Given the description of an element on the screen output the (x, y) to click on. 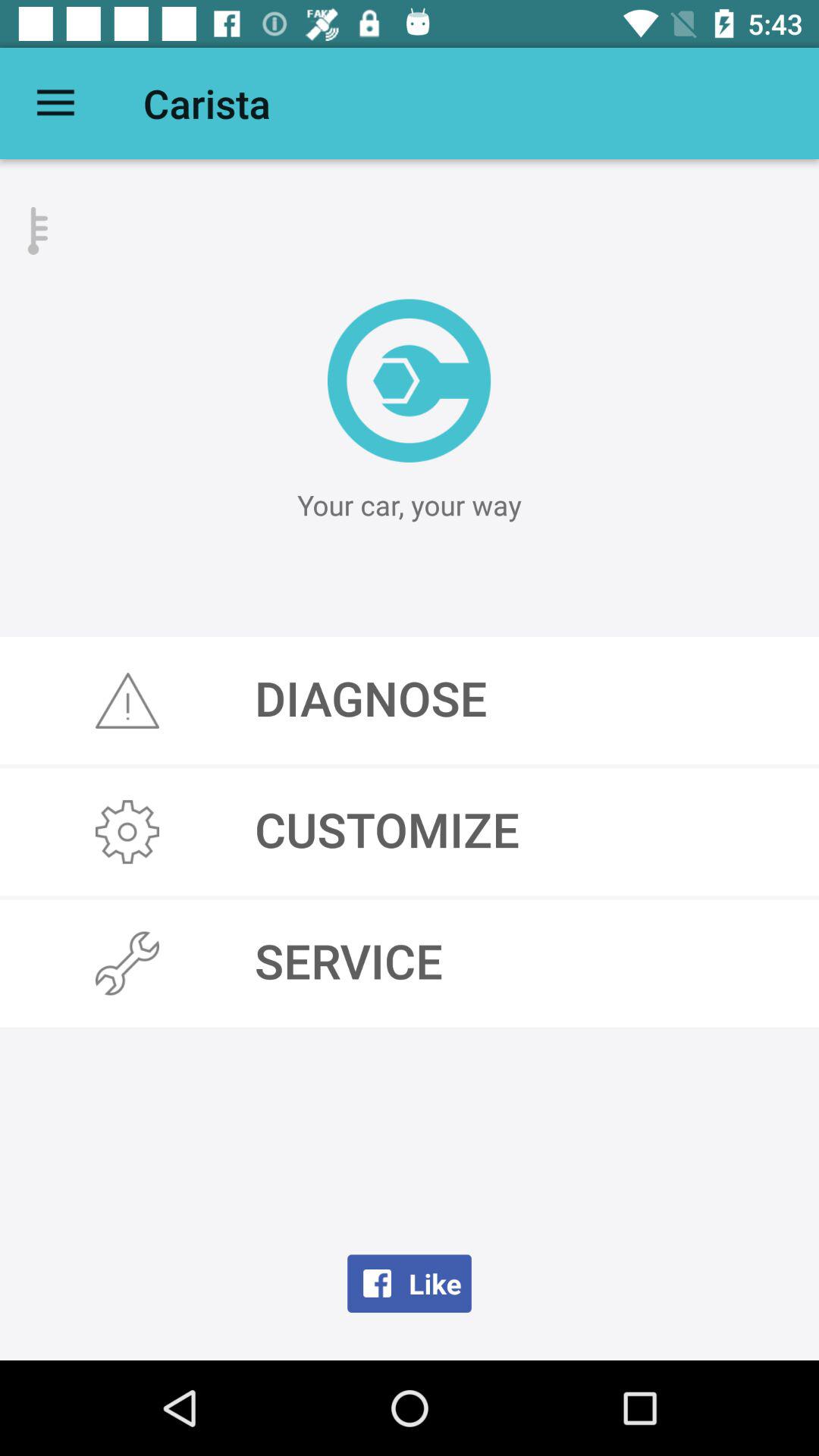
scroll to the customize icon (409, 831)
